Given the description of an element on the screen output the (x, y) to click on. 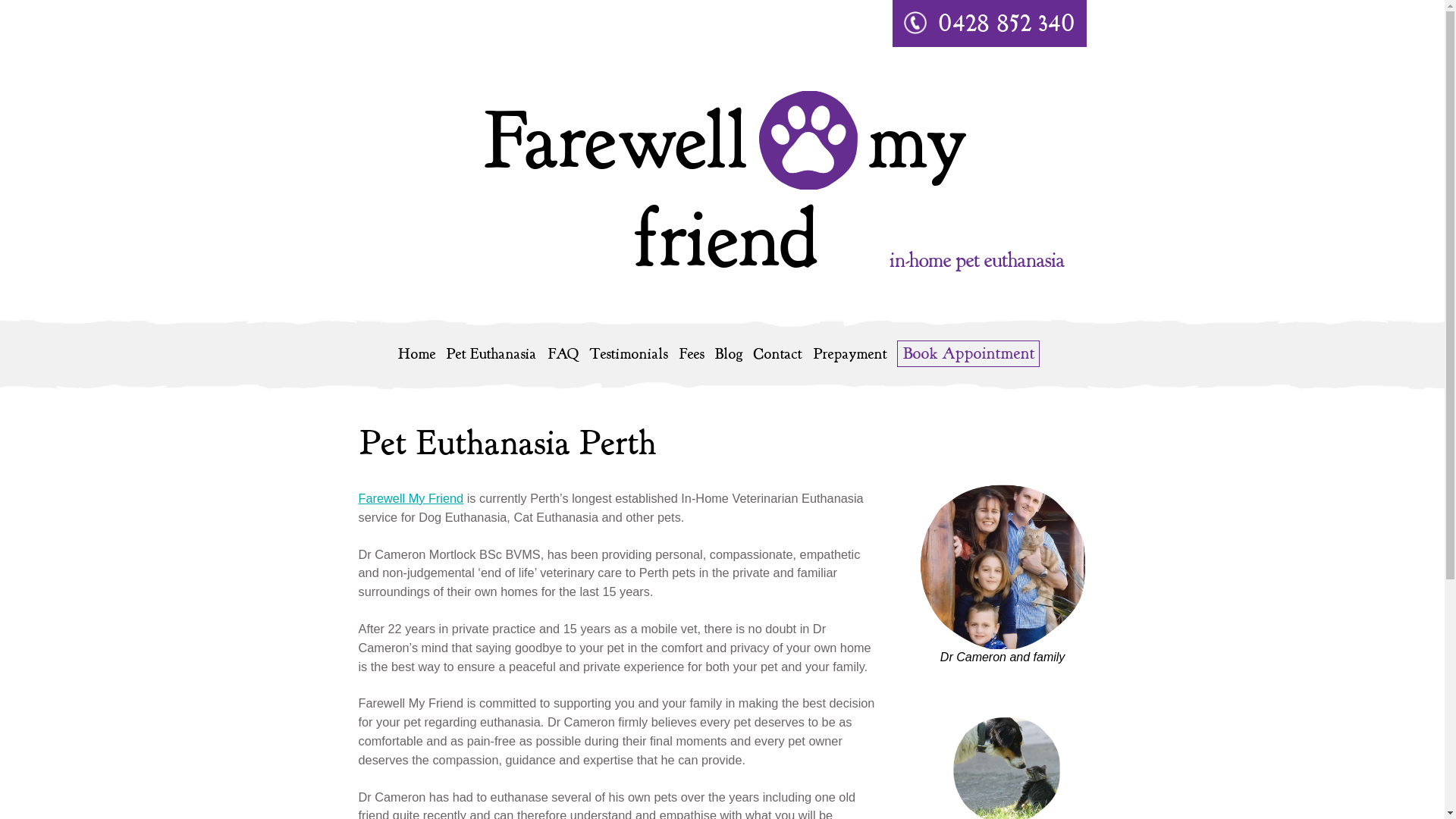
Fees Element type: text (689, 354)
FAQ Element type: text (562, 354)
Book Appointment Element type: text (968, 353)
Farewell My Friend Element type: text (410, 498)
Home Element type: text (416, 354)
Prepayment Element type: text (849, 354)
Contact Element type: text (777, 354)
Pet Euthanasia Element type: text (490, 354)
Dr Cameron and family Element type: hover (1002, 566)
Farewell my friend
in-home pet euthanasia Element type: text (721, 203)
Blog Element type: text (728, 354)
Testimonials Element type: text (628, 354)
